Given the description of an element on the screen output the (x, y) to click on. 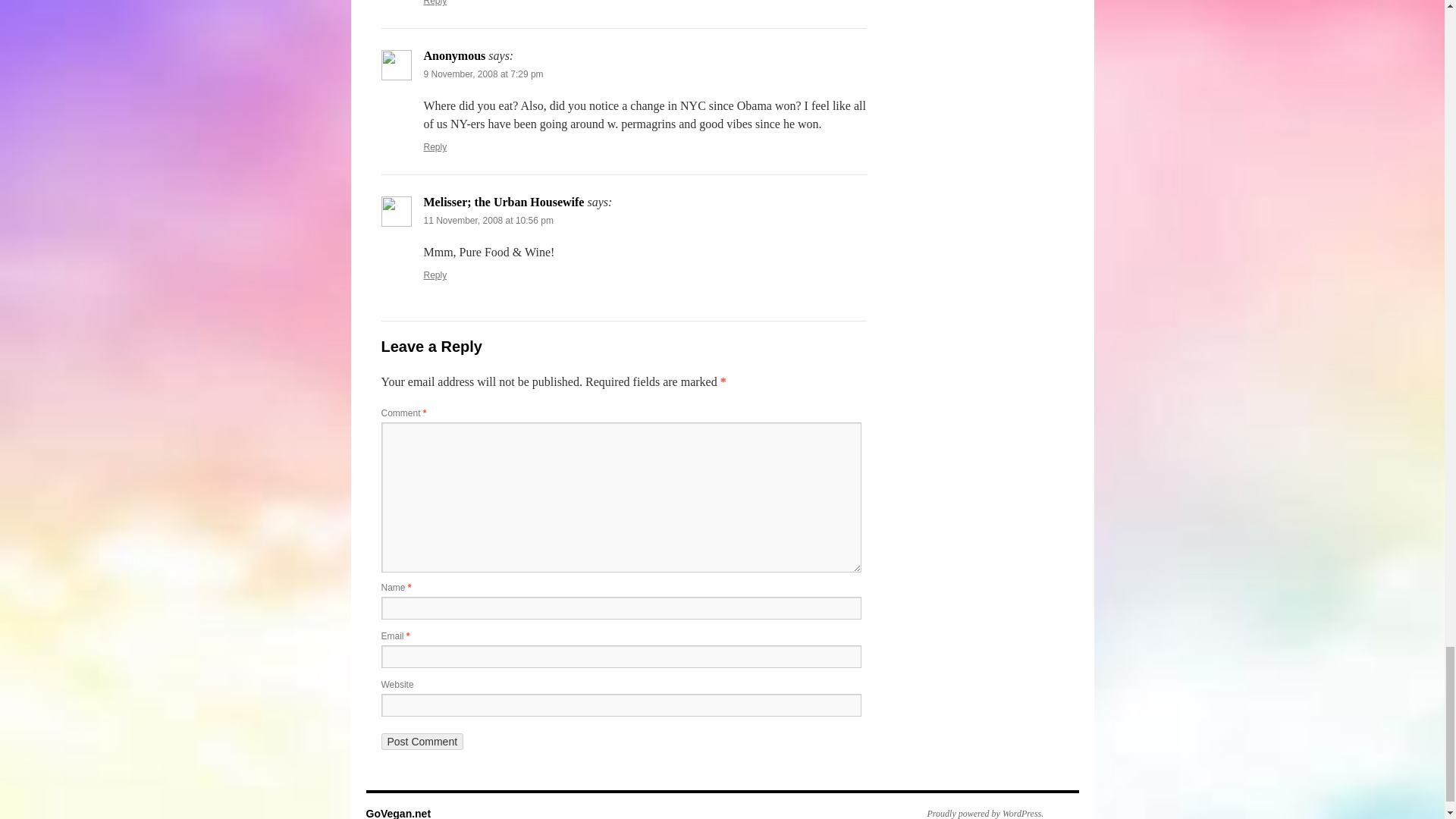
Reply (434, 146)
Post Comment (421, 741)
Reply (434, 2)
11 November, 2008 at 10:56 pm (488, 220)
9 November, 2008 at 7:29 pm (483, 73)
Post Comment (421, 741)
Reply (434, 275)
